Given the description of an element on the screen output the (x, y) to click on. 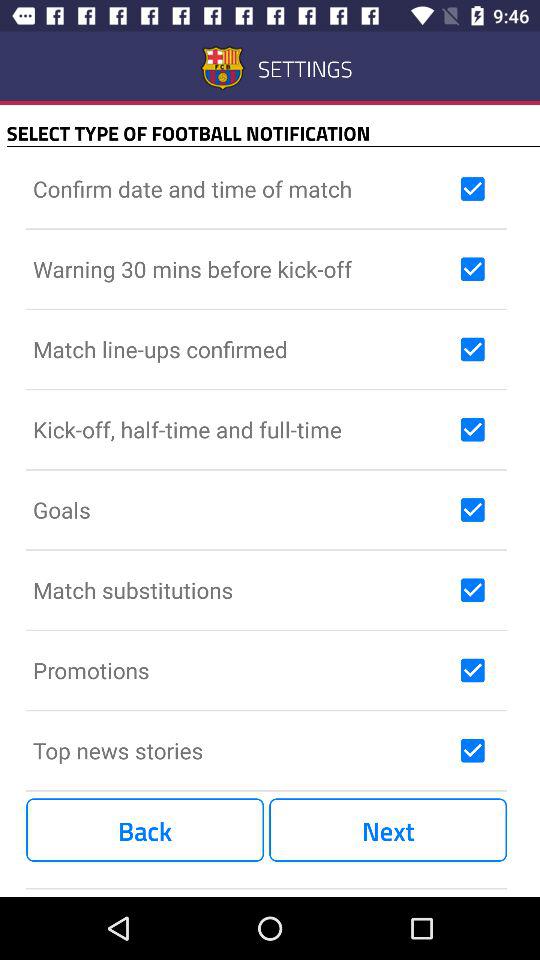
preference notification box (472, 510)
